Given the description of an element on the screen output the (x, y) to click on. 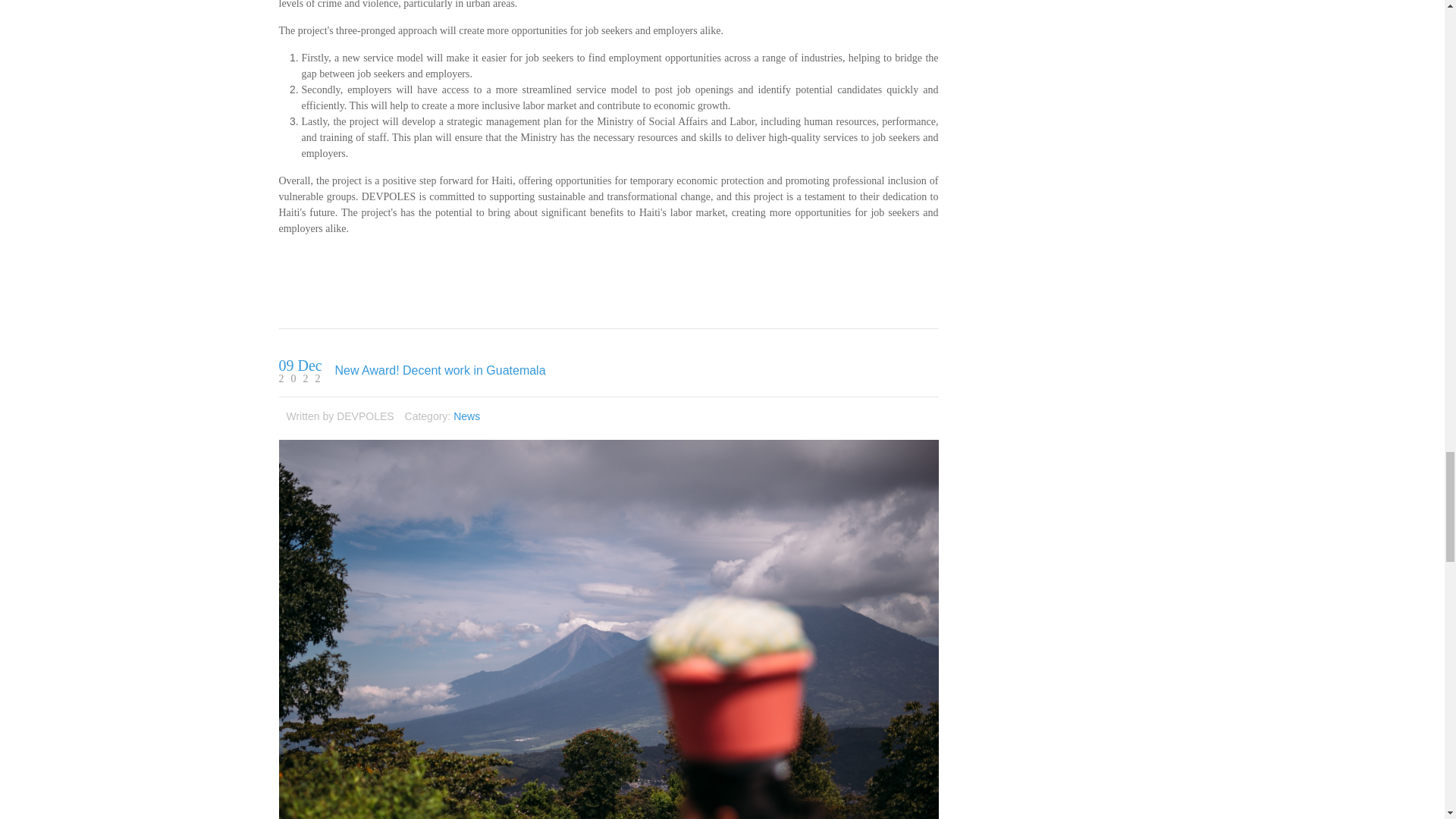
New Award! Decent work in Guatemala (440, 369)
News  (466, 416)
